Given the description of an element on the screen output the (x, y) to click on. 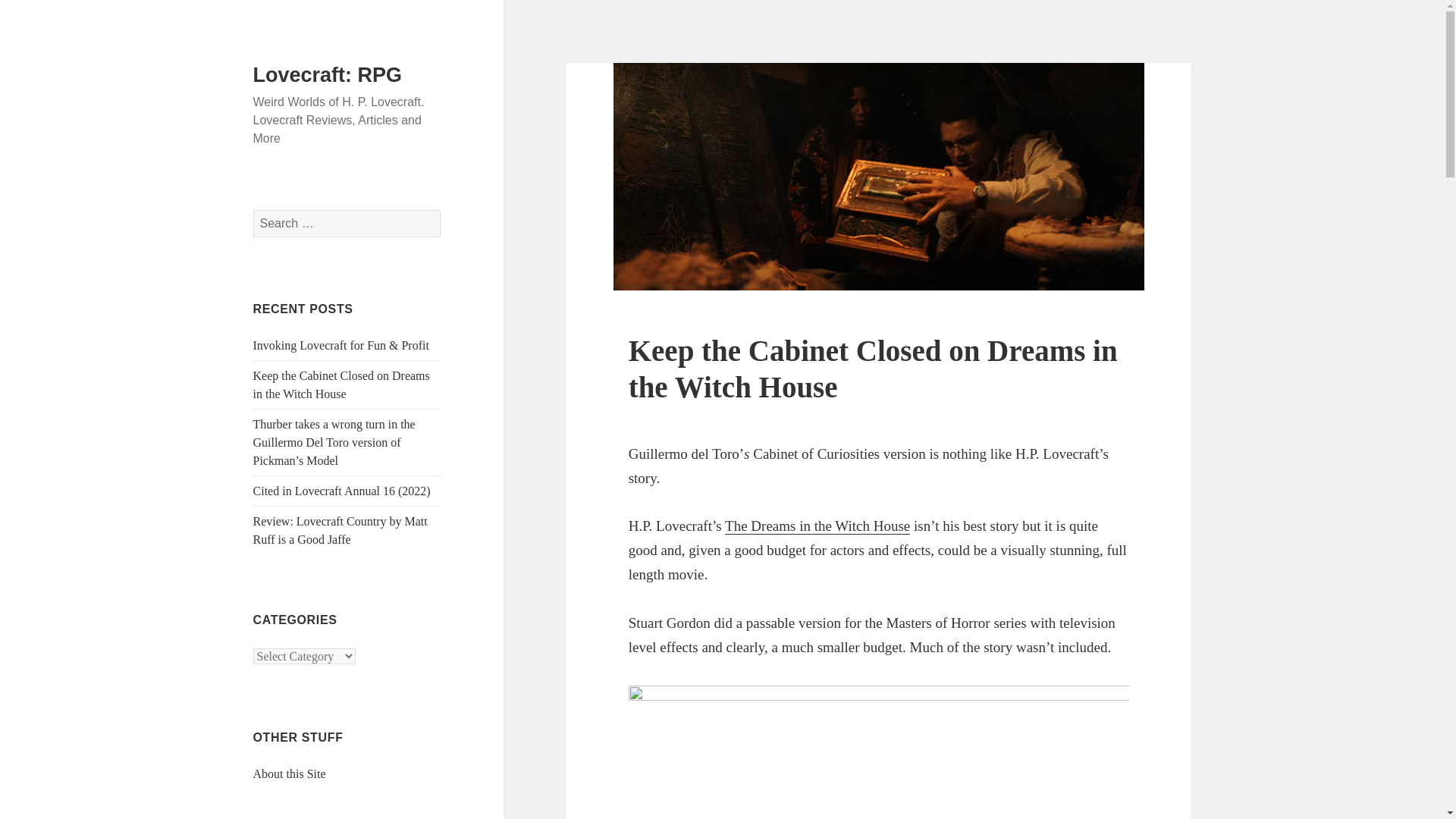
Keep the Cabinet Closed on Dreams in the Witch House (341, 384)
Review: Lovecraft Country by Matt Ruff is a Good Jaffe (340, 530)
About this Site (289, 773)
Lovecraft: RPG (328, 74)
The Dreams in the Witch House (817, 525)
